Given the description of an element on the screen output the (x, y) to click on. 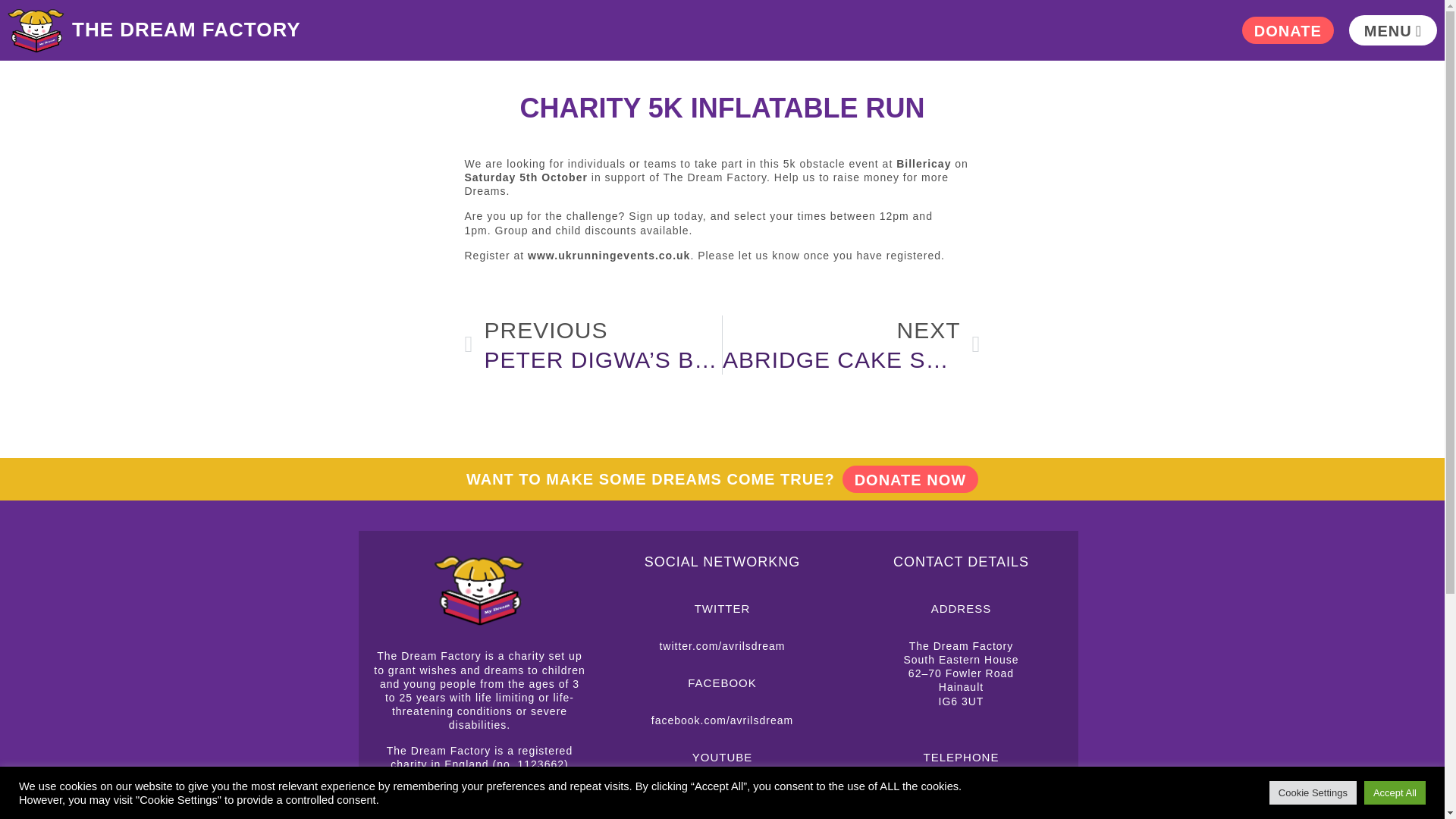
www.ukrunningevents.co.uk (608, 255)
DONATE (850, 344)
THE DREAM FACTORY (1287, 30)
MENU (186, 29)
